Given the description of an element on the screen output the (x, y) to click on. 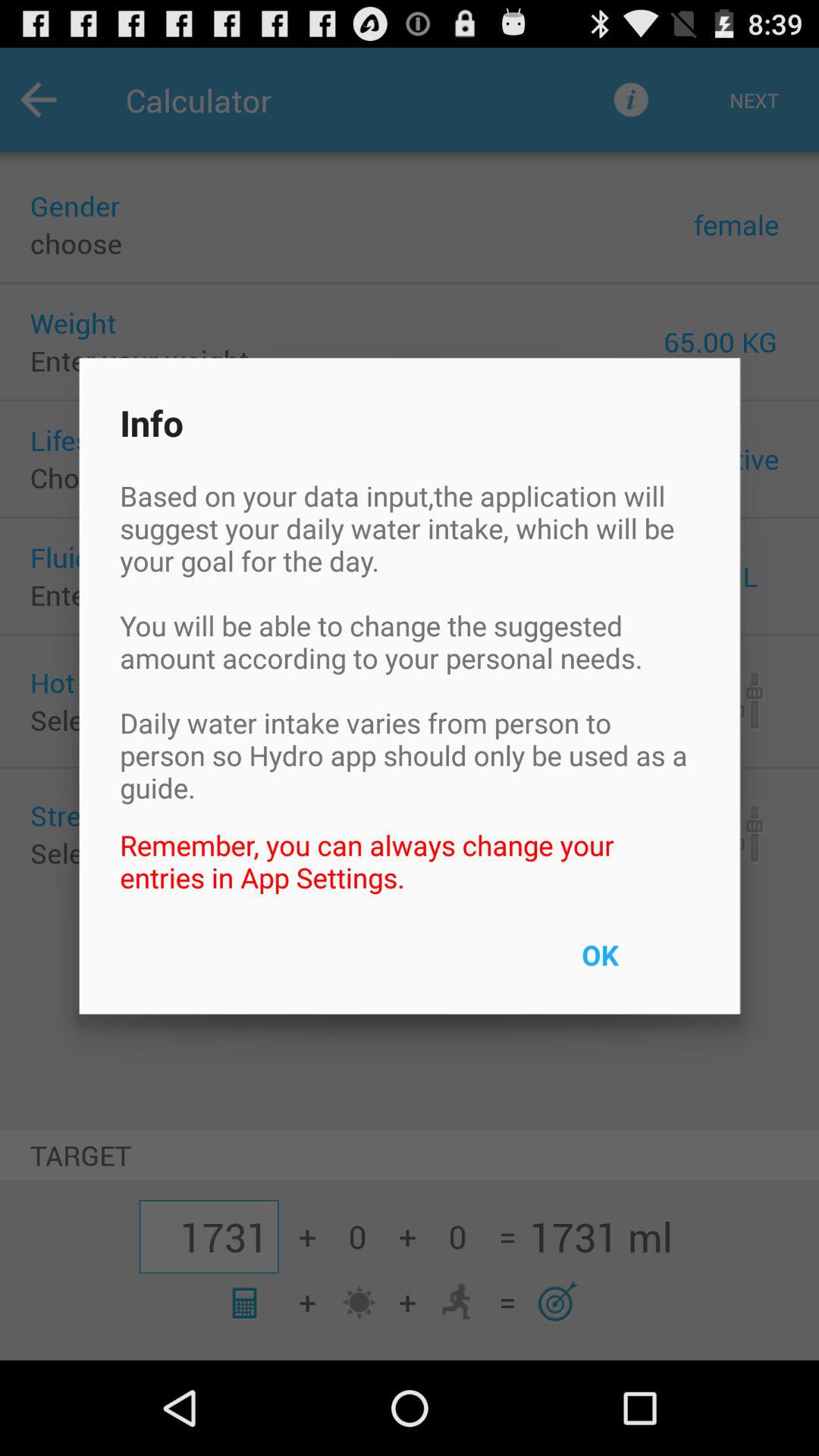
jump until the ok item (634, 964)
